Given the description of an element on the screen output the (x, y) to click on. 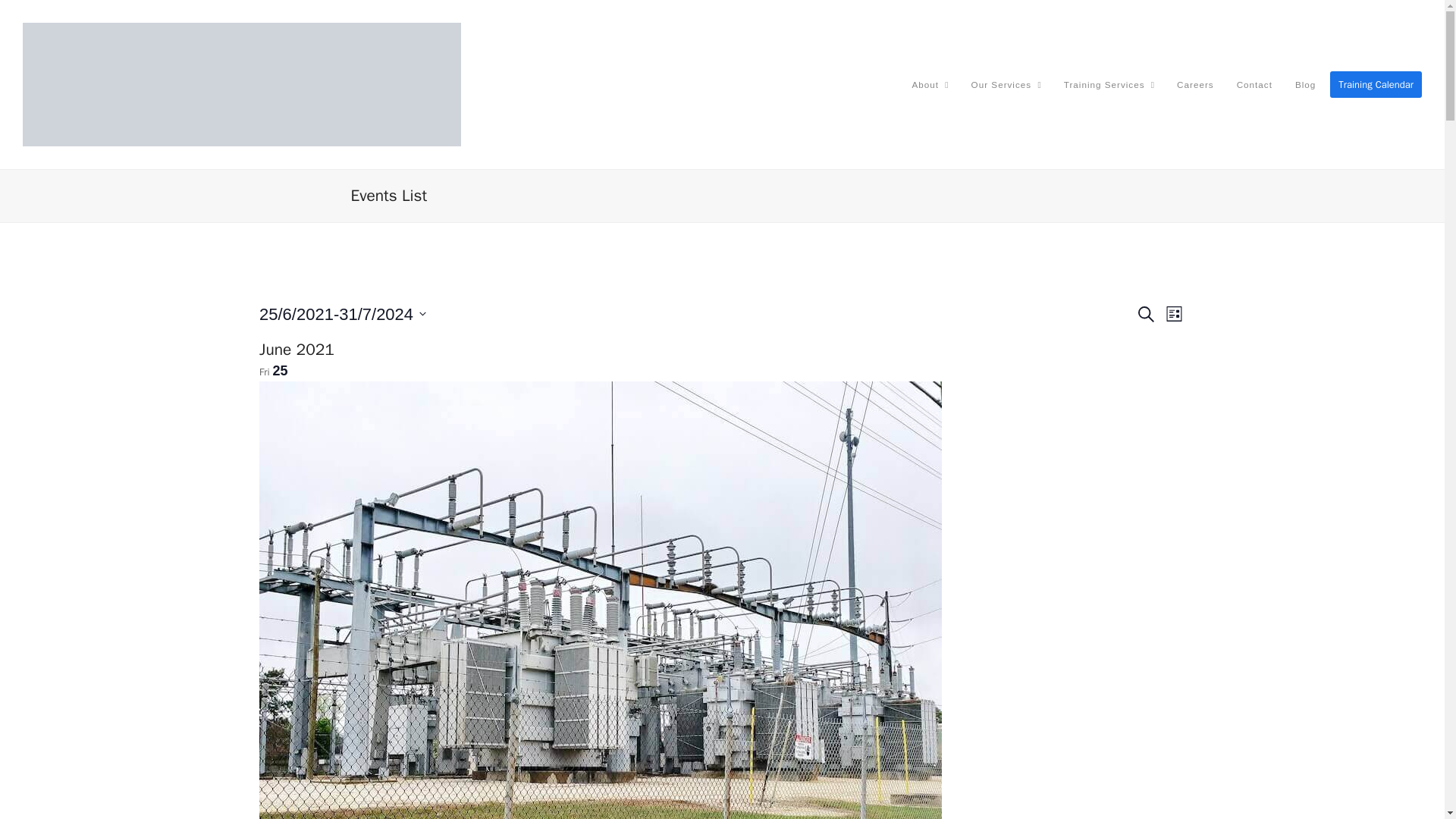
Click to toggle datepicker (342, 314)
Search (1146, 314)
List (1174, 314)
